Given the description of an element on the screen output the (x, y) to click on. 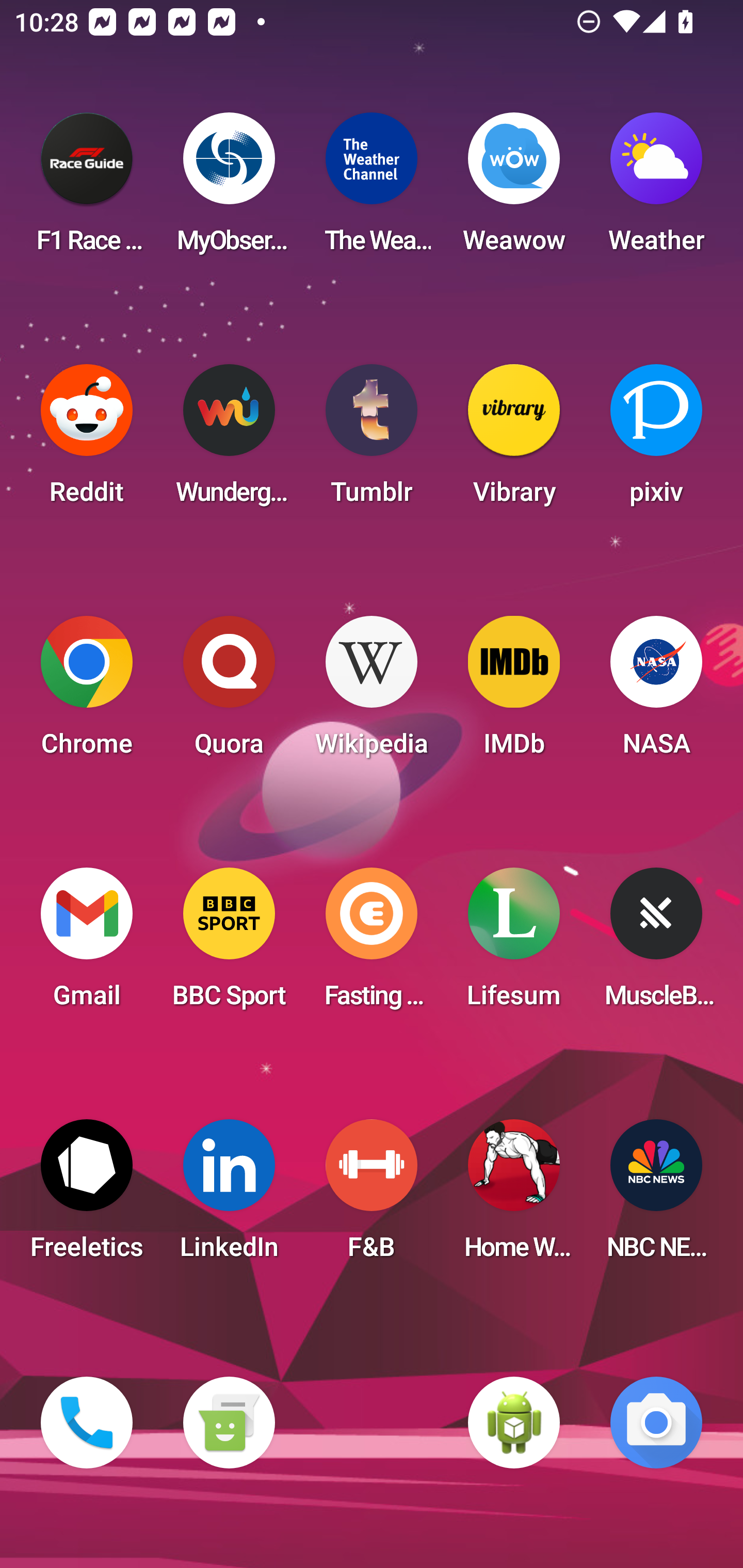
F1 Race Guide (86, 188)
MyObservatory (228, 188)
The Weather Channel (371, 188)
Weawow (513, 188)
Weather (656, 188)
Reddit (86, 440)
Wunderground (228, 440)
Tumblr (371, 440)
Vibrary (513, 440)
pixiv (656, 440)
Chrome (86, 692)
Quora (228, 692)
Wikipedia (371, 692)
IMDb (513, 692)
NASA (656, 692)
Gmail (86, 943)
BBC Sport (228, 943)
Fasting Coach (371, 943)
Lifesum (513, 943)
MuscleBooster (656, 943)
Freeletics (86, 1195)
LinkedIn (228, 1195)
F&B (371, 1195)
Home Workout (513, 1195)
NBC NEWS (656, 1195)
Phone (86, 1422)
Messaging (228, 1422)
WebView Browser Tester (513, 1422)
Camera (656, 1422)
